Given the description of an element on the screen output the (x, y) to click on. 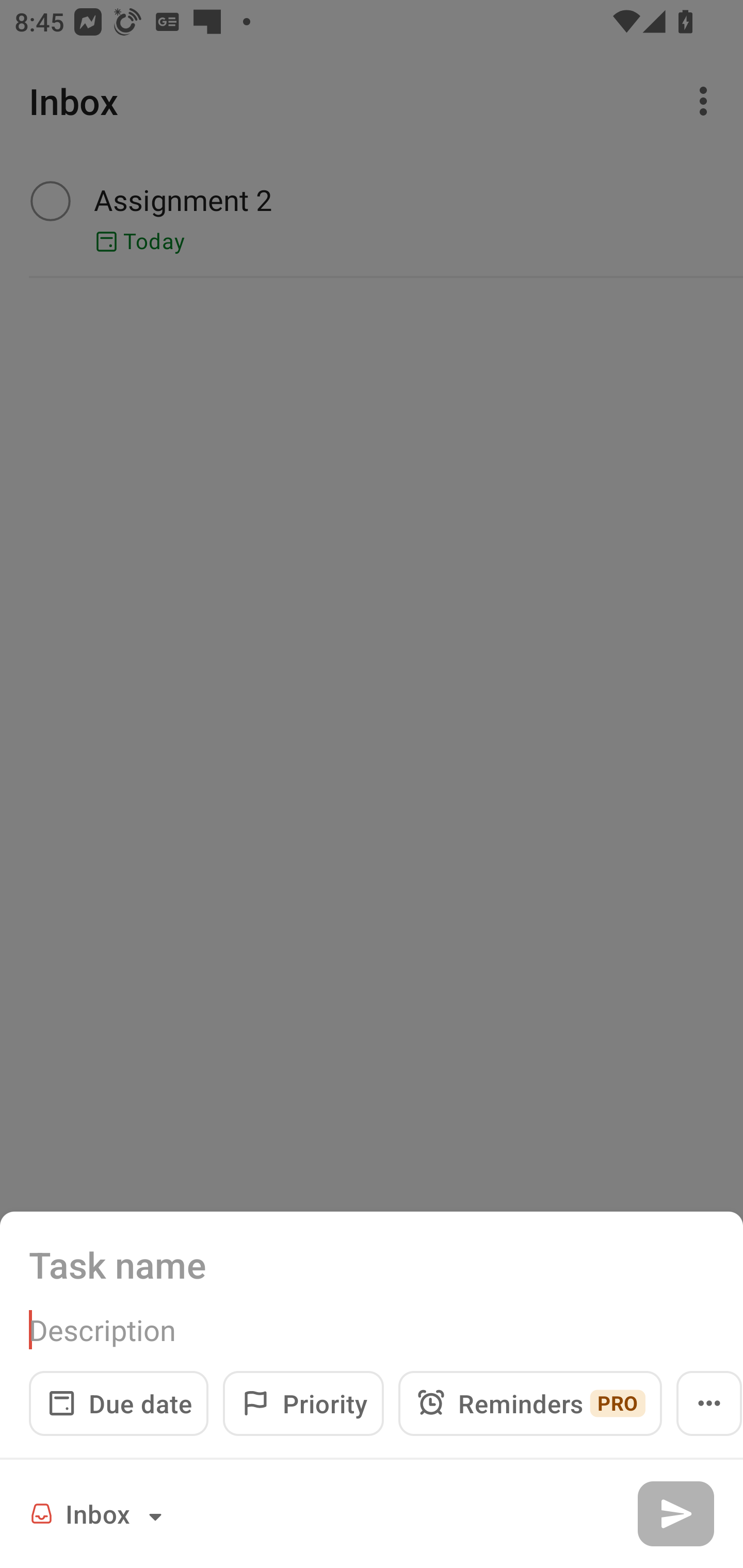
Task name (371, 1264)
Description (371, 1330)
Due date Date (118, 1403)
Priority (303, 1403)
Reminders PRO Reminders (530, 1403)
Open menu (709, 1403)
Inbox Project (99, 1513)
Add (675, 1513)
